Given the description of an element on the screen output the (x, y) to click on. 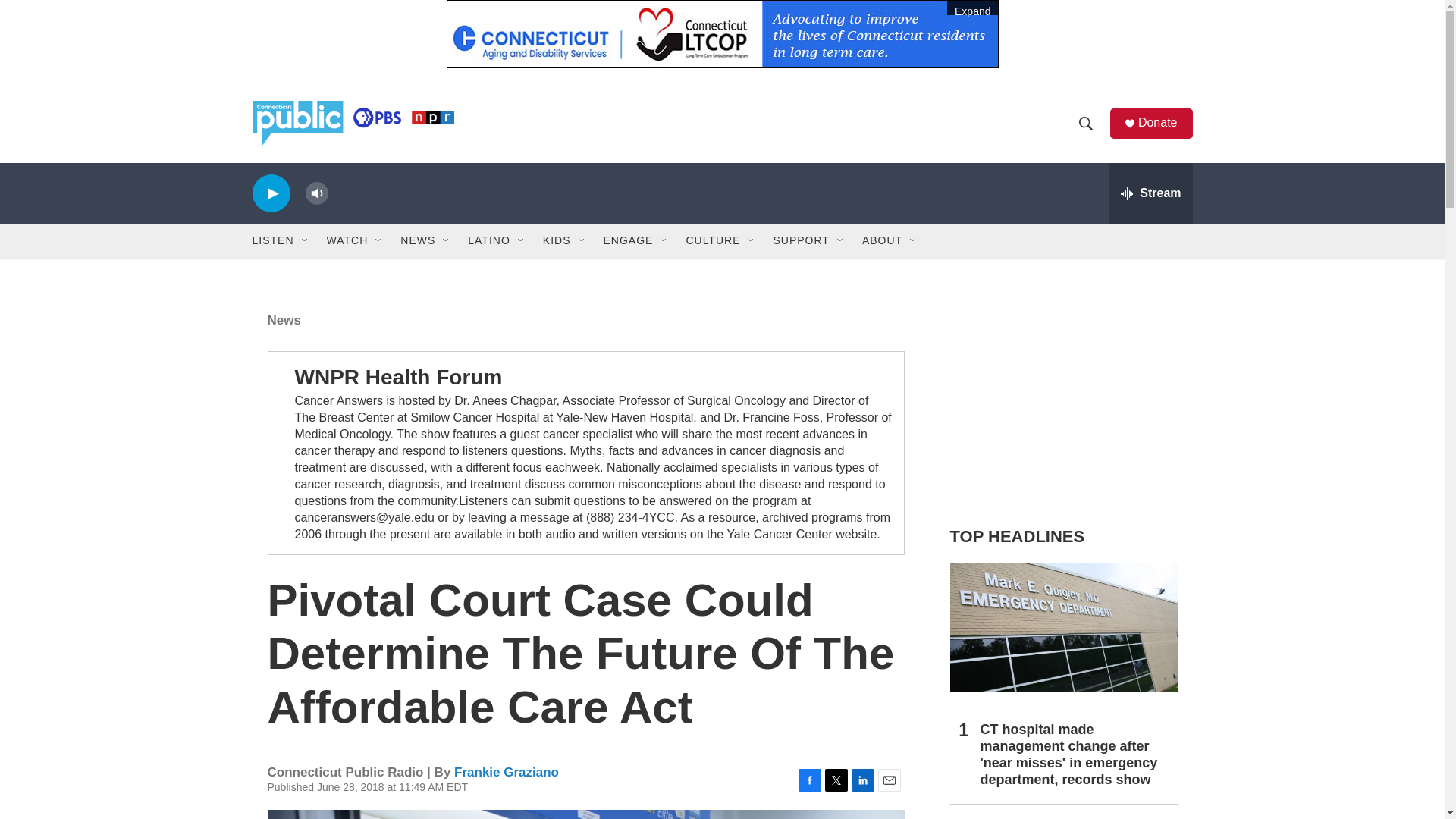
Expand (721, 33)
3rd party ad content (1062, 400)
